Given the description of an element on the screen output the (x, y) to click on. 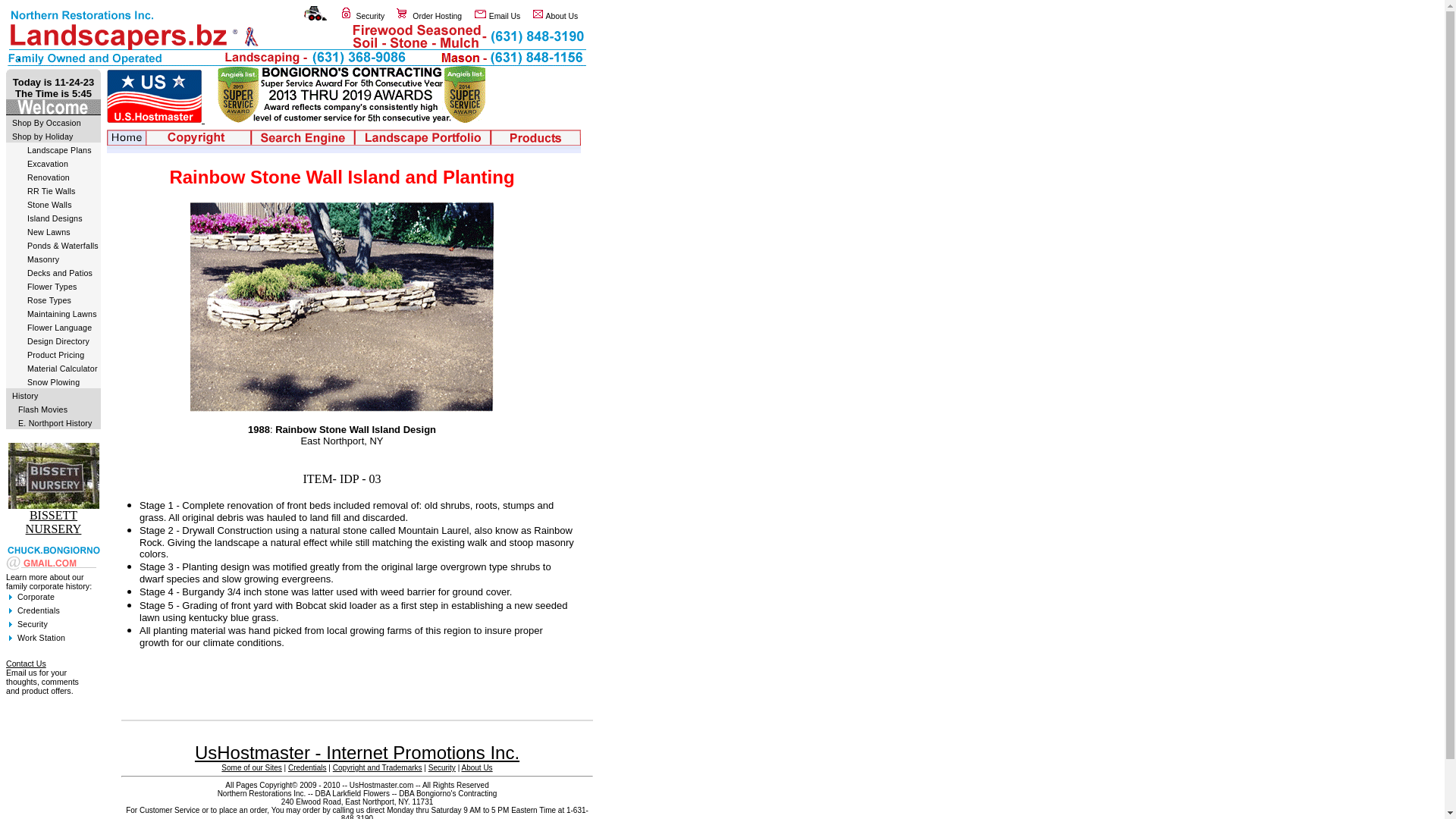
Email Us Element type: text (504, 16)
New Lawns Element type: text (48, 231)
Shop By Occasion Element type: text (46, 122)
Security Element type: text (370, 16)
Renovation Element type: text (48, 177)
Material Calculator Element type: text (62, 368)
RR Tie Walls Element type: text (51, 190)
Design Directory Element type: text (58, 340)
Island Designs Element type: text (54, 217)
Order Hosting Element type: text (436, 16)
E. Northport History Element type: text (55, 422)
Security Element type: text (441, 767)
Shop by Holiday Element type: text (42, 136)
Flower Language Element type: text (59, 327)
Product Pricing Element type: text (55, 354)
Flower Types Element type: text (52, 286)
About Us Element type: text (476, 767)
Excavation Element type: text (47, 163)
Corporate Element type: text (35, 596)
Copyright and Trademarks Element type: text (377, 767)
Credentials Element type: text (307, 767)
Snow Plowing Element type: text (53, 381)
Credentials Element type: text (38, 610)
About Us Element type: text (562, 16)
Security Element type: text (32, 623)
Maintaining Lawns Element type: text (62, 313)
Flash Movies Element type: text (42, 409)
Masonry Element type: text (43, 258)
Ponds & Waterfalls Element type: text (62, 245)
UsHostmaster - Internet Promotions Inc. Element type: text (356, 752)
Stone Walls Element type: text (49, 204)
BISSETT NURSERY Element type: text (53, 521)
Rose Types Element type: text (49, 299)
Landscape Plans Element type: text (59, 149)
Work Station Element type: text (41, 637)
Decks and Patios Element type: text (59, 272)
Contact Us Element type: text (26, 663)
Some of our Sites Element type: text (251, 767)
History Element type: text (25, 395)
